Given the description of an element on the screen output the (x, y) to click on. 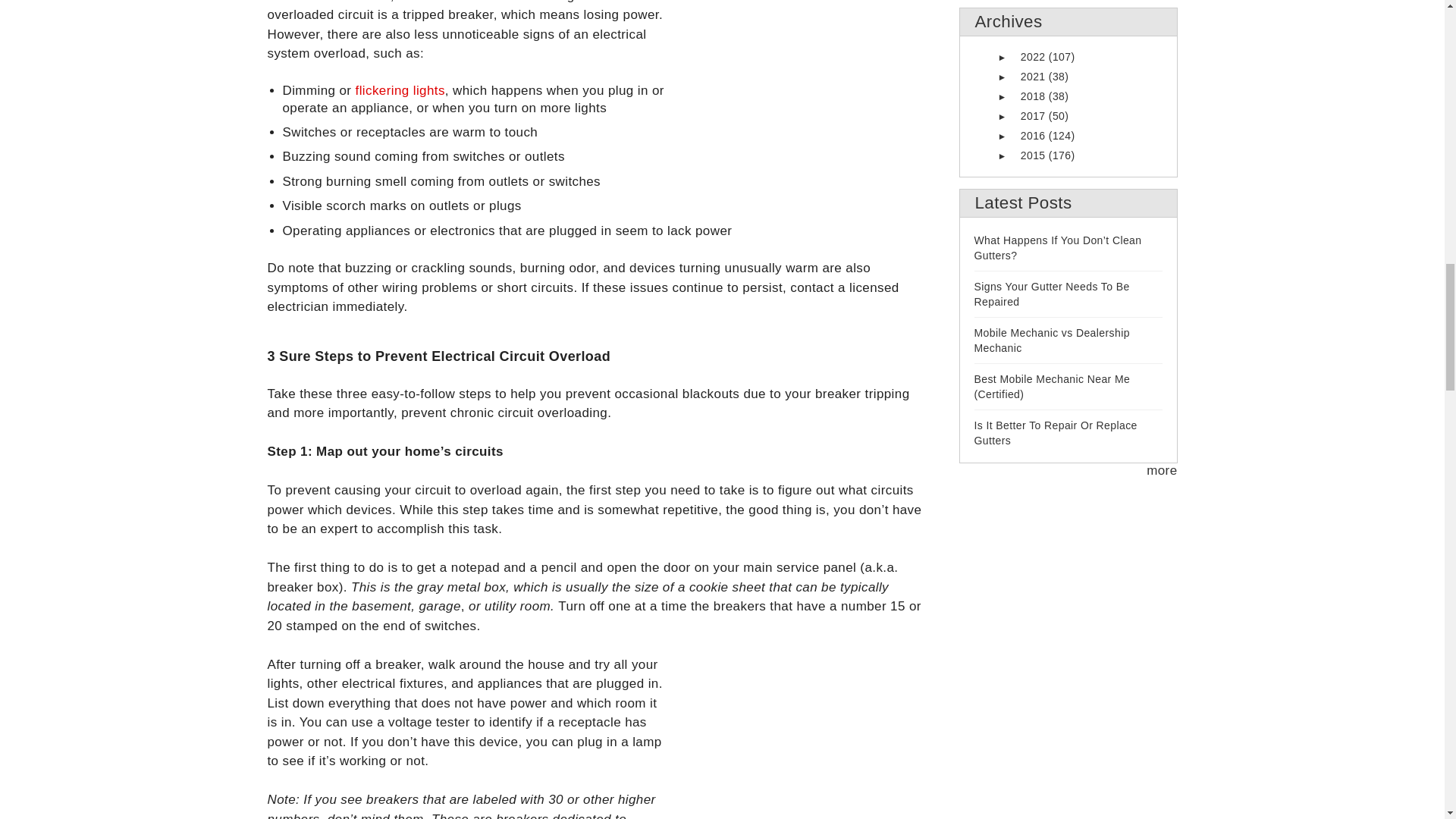
flickering lights (400, 90)
